Given the description of an element on the screen output the (x, y) to click on. 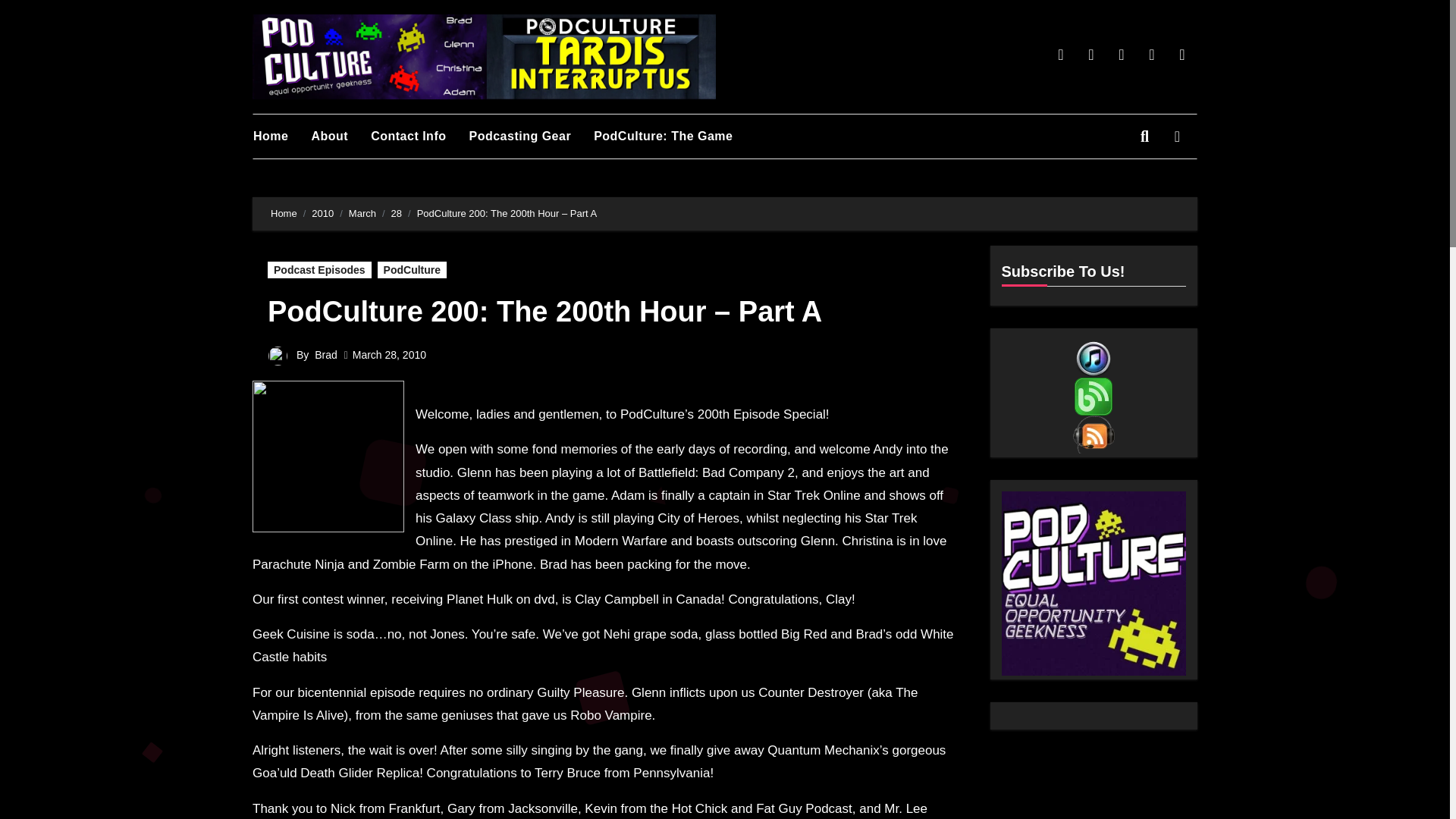
Podcasting Gear (531, 136)
Home (282, 136)
PodCulture: The Game (674, 136)
About (341, 136)
2010 (322, 213)
March 28, 2010 (389, 354)
Home (282, 136)
March (362, 213)
Brad (325, 354)
PodCulture (411, 269)
Home (283, 213)
Contact Info (419, 136)
Podcast Episodes (319, 269)
28 (396, 213)
